Given the description of an element on the screen output the (x, y) to click on. 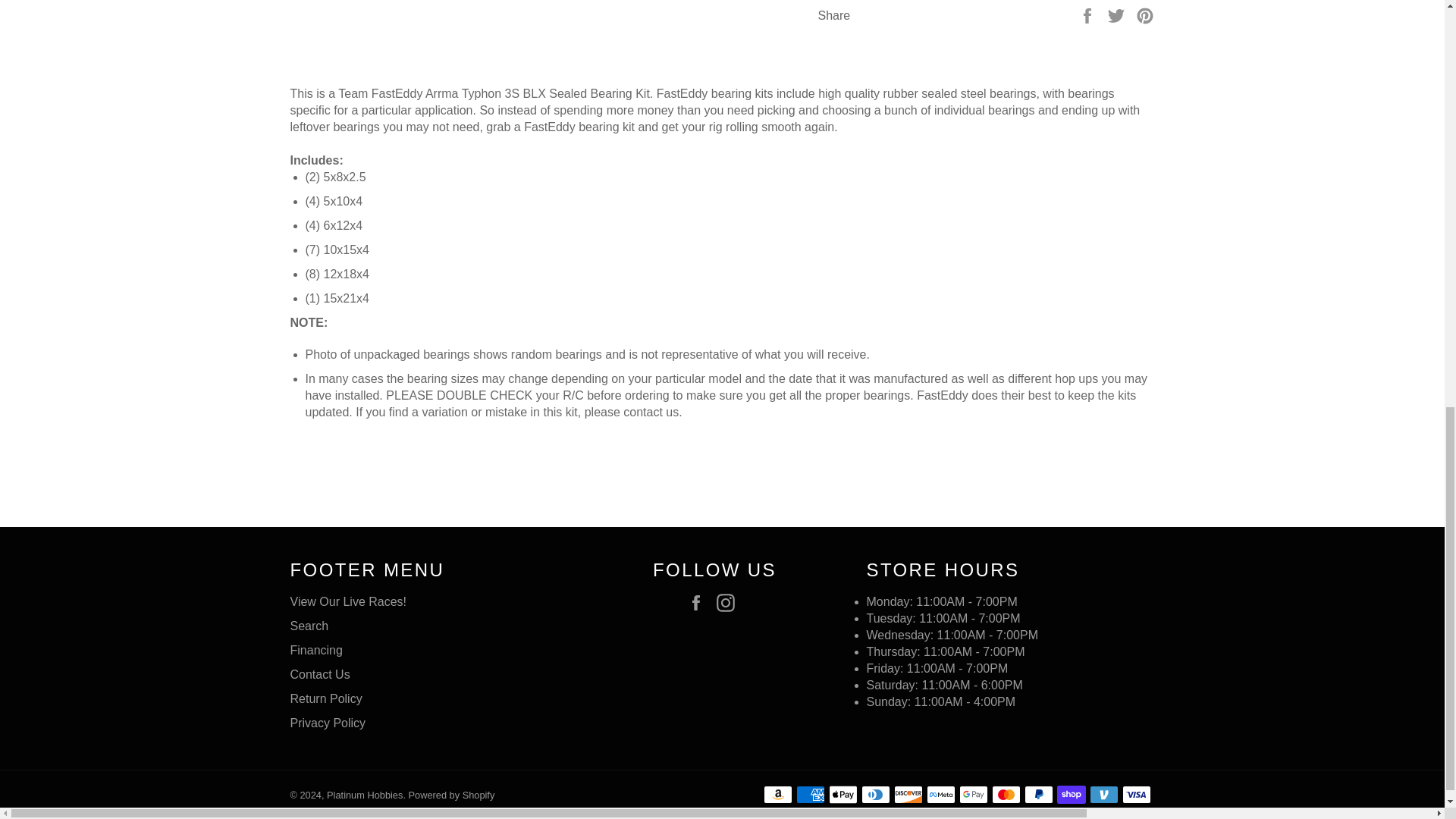
Platinum Hobbies on Instagram (729, 602)
Pin on Pinterest (1144, 14)
Platinum Hobbies on Facebook (700, 602)
Tweet on Twitter (1117, 14)
Share on Facebook (1088, 14)
